Given the description of an element on the screen output the (x, y) to click on. 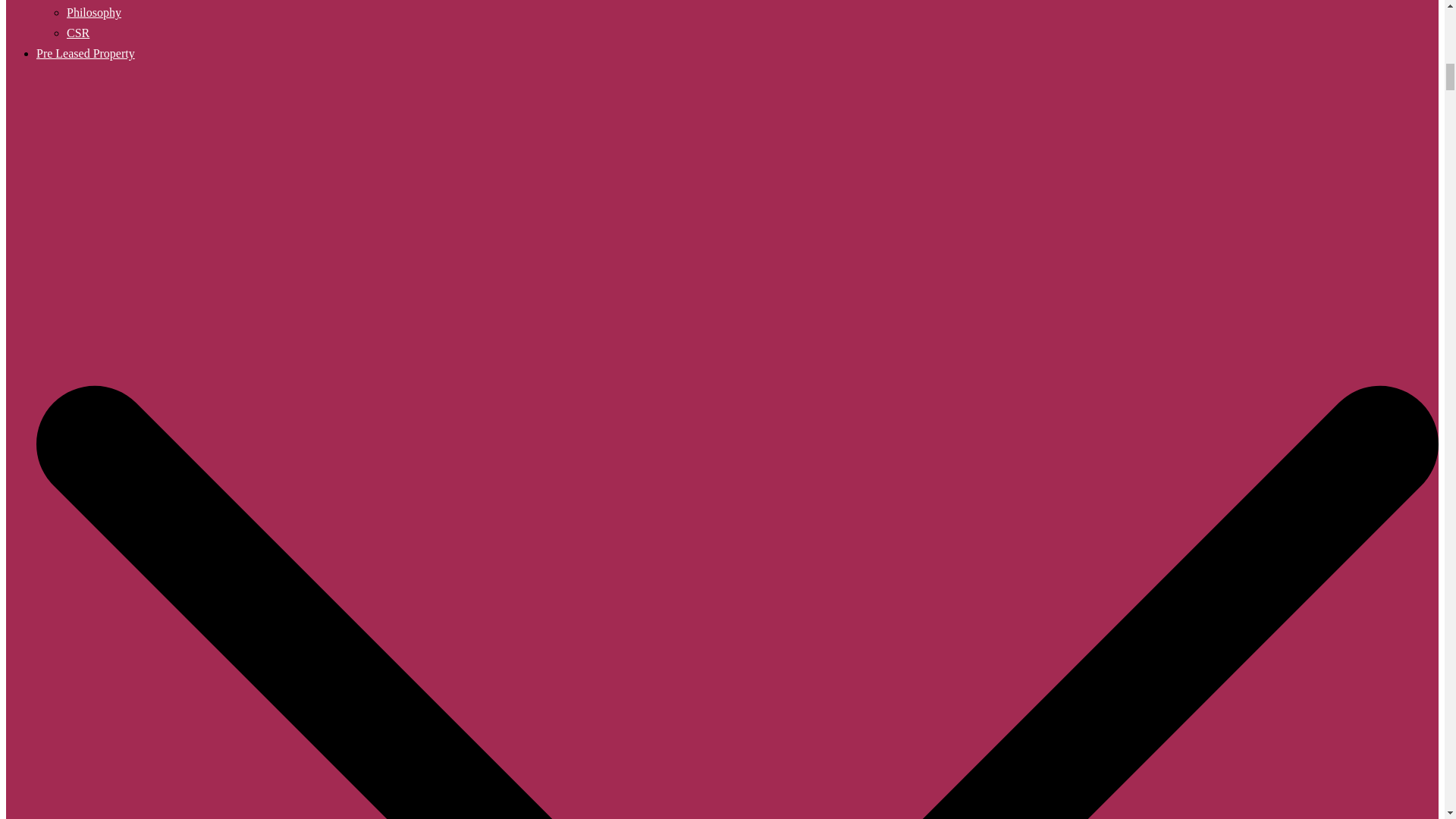
Pre Leased Property (85, 52)
Philosophy (93, 11)
CSR (77, 32)
